Given the description of an element on the screen output the (x, y) to click on. 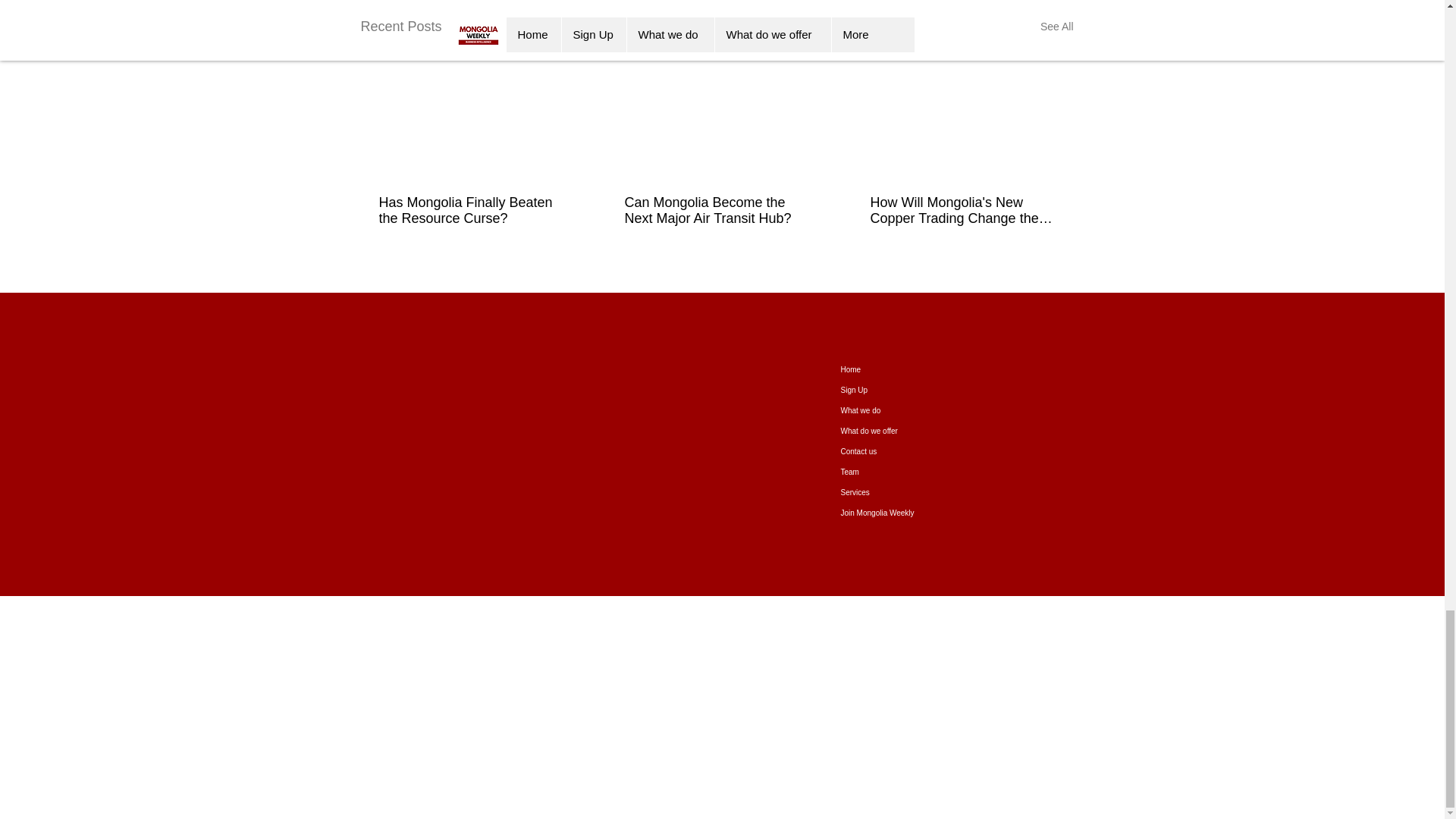
Sign Up (898, 390)
Services (898, 492)
See All (1057, 25)
Contact us (898, 451)
What do we offer (898, 430)
Team (898, 471)
Can Mongolia Become the Next Major Air Transit Hub? (716, 210)
Has Mongolia Finally Beaten the Resource Curse? (470, 210)
Home (898, 369)
What we do (898, 410)
